Given the description of an element on the screen output the (x, y) to click on. 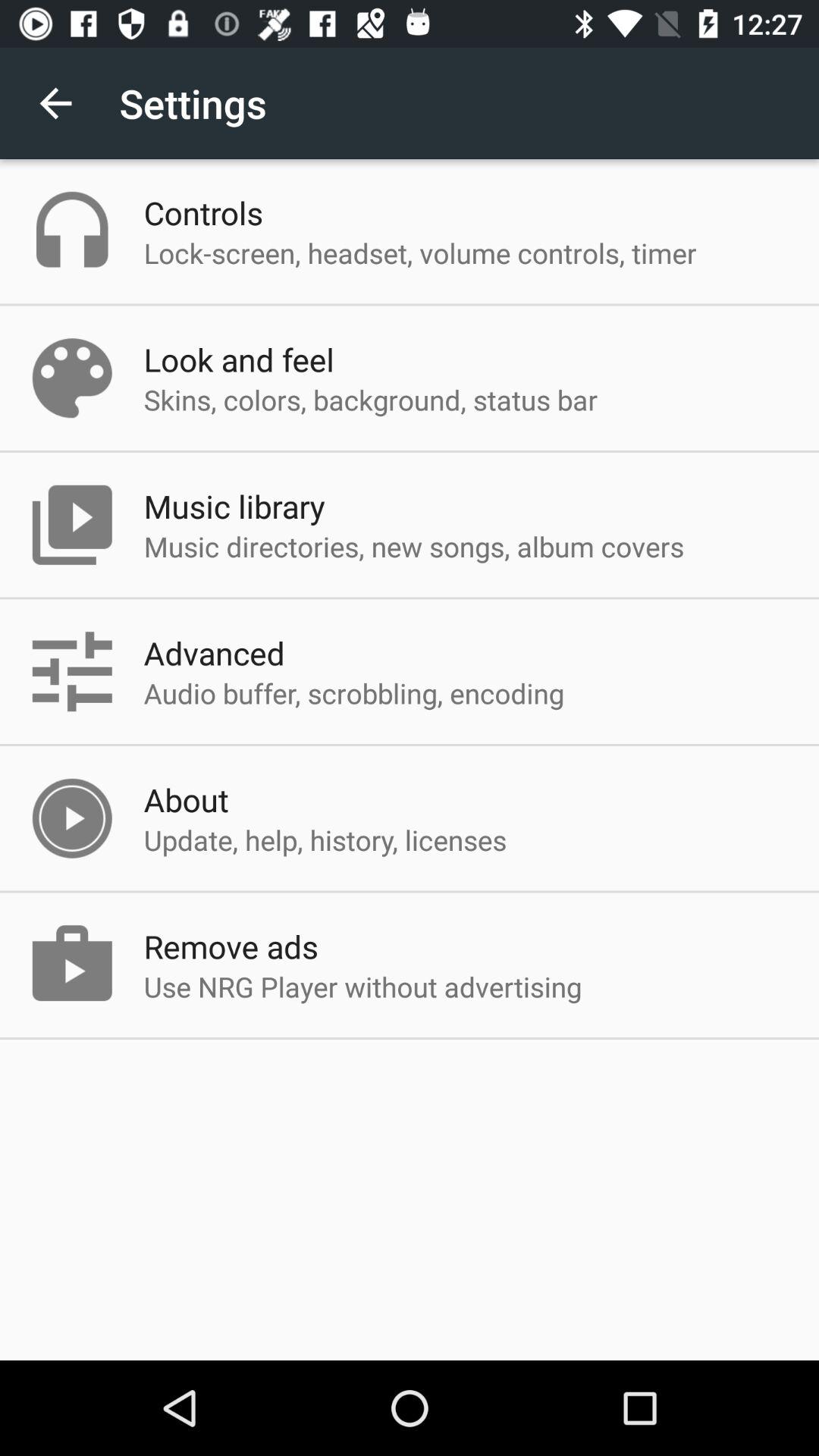
turn off the skins colors background app (370, 399)
